Given the description of an element on the screen output the (x, y) to click on. 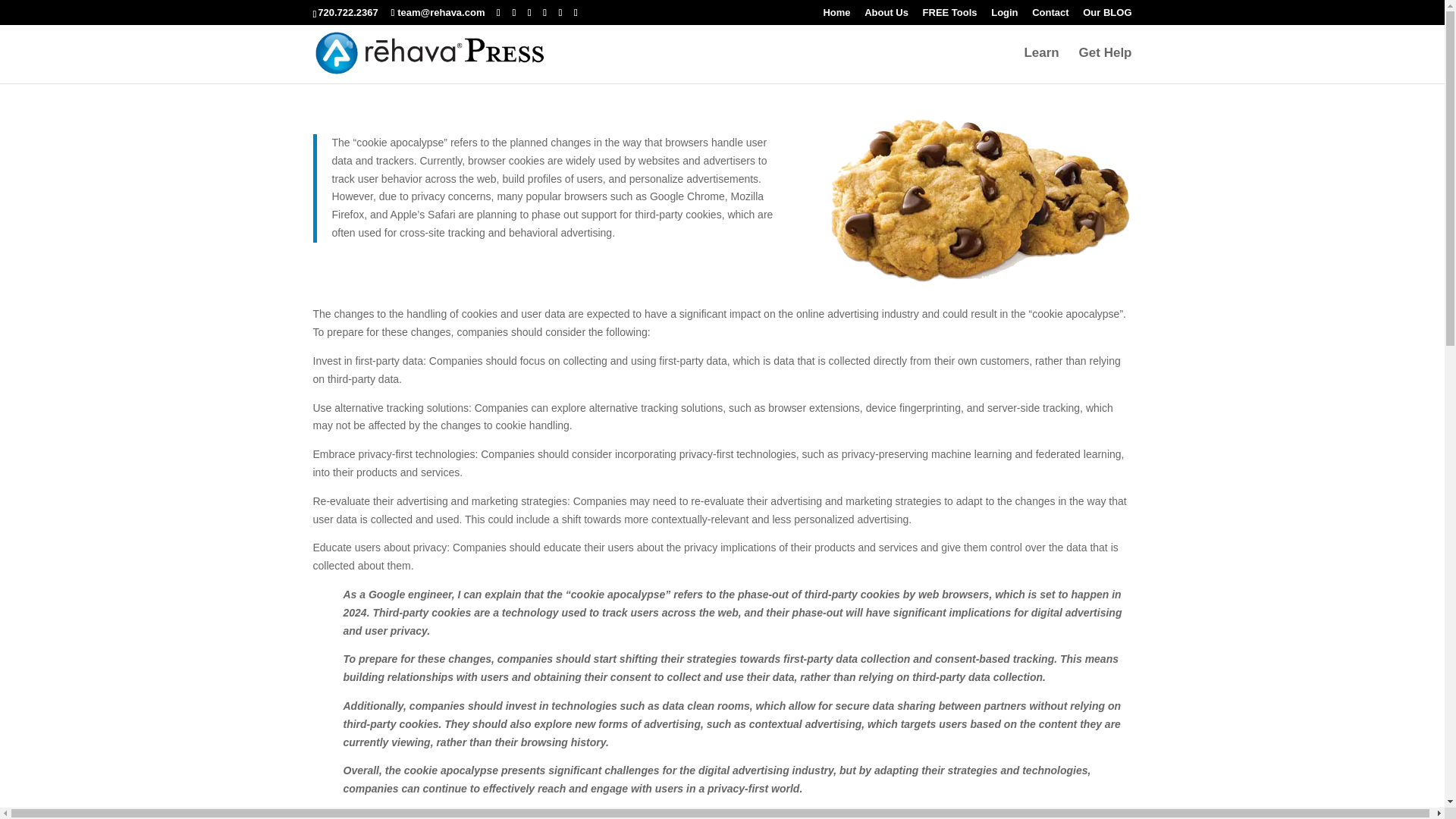
Our BLOG (1107, 16)
Login (1004, 16)
Get Help (1105, 65)
About Us (886, 16)
cookie (981, 199)
Home (836, 16)
Learn (1040, 65)
FREE Tools (949, 16)
Contact (1050, 16)
